Given the description of an element on the screen output the (x, y) to click on. 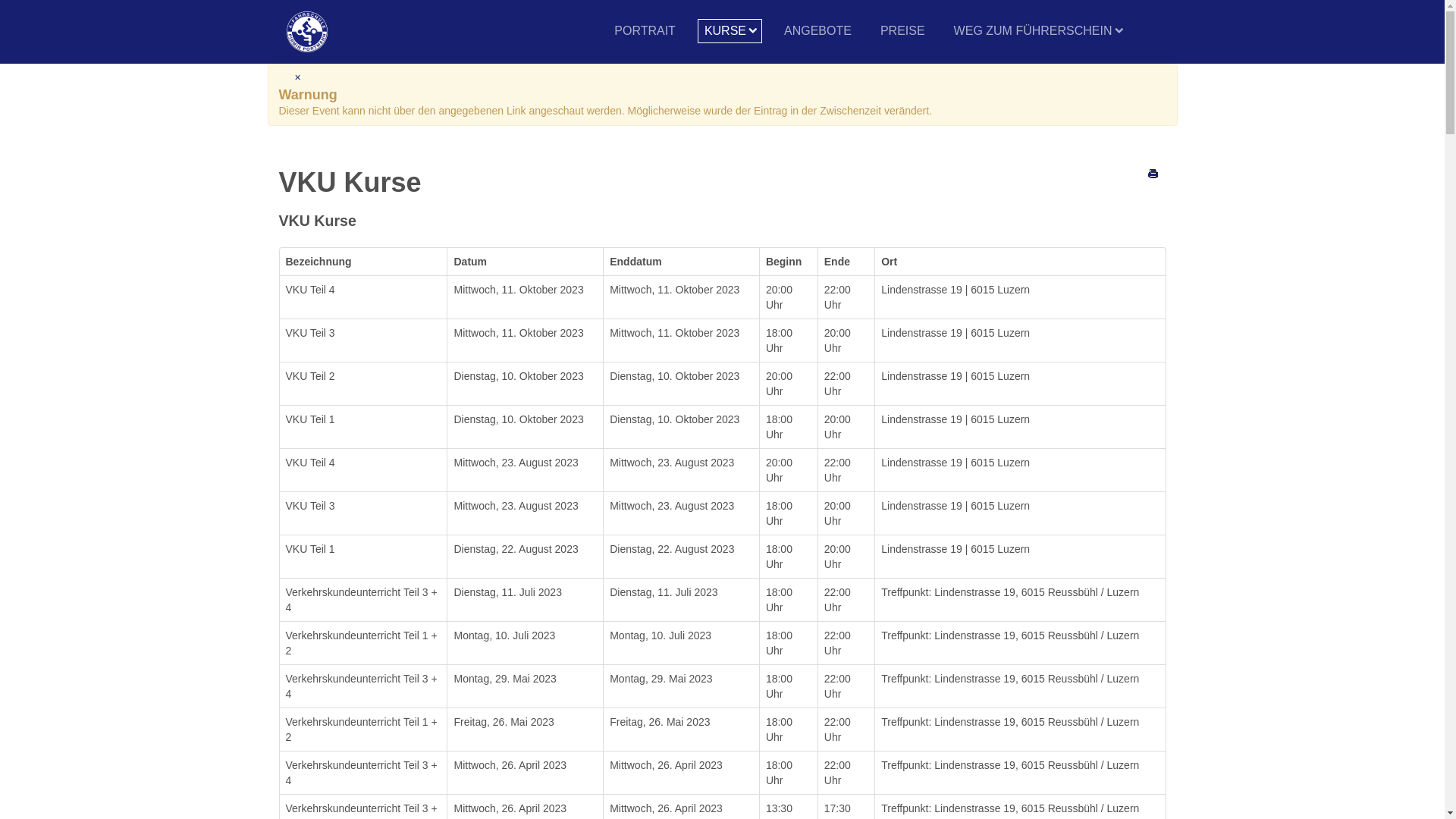
PORTRAIT Element type: text (644, 30)
Drucken Element type: hover (1153, 172)
PREISE Element type: text (902, 30)
ANGEBOTE Element type: text (817, 30)
A Fahrschule Luzern Pirmin Portmann and 3.0+
- Element type: text (306, 31)
KURSE Element type: text (729, 30)
